Given the description of an element on the screen output the (x, y) to click on. 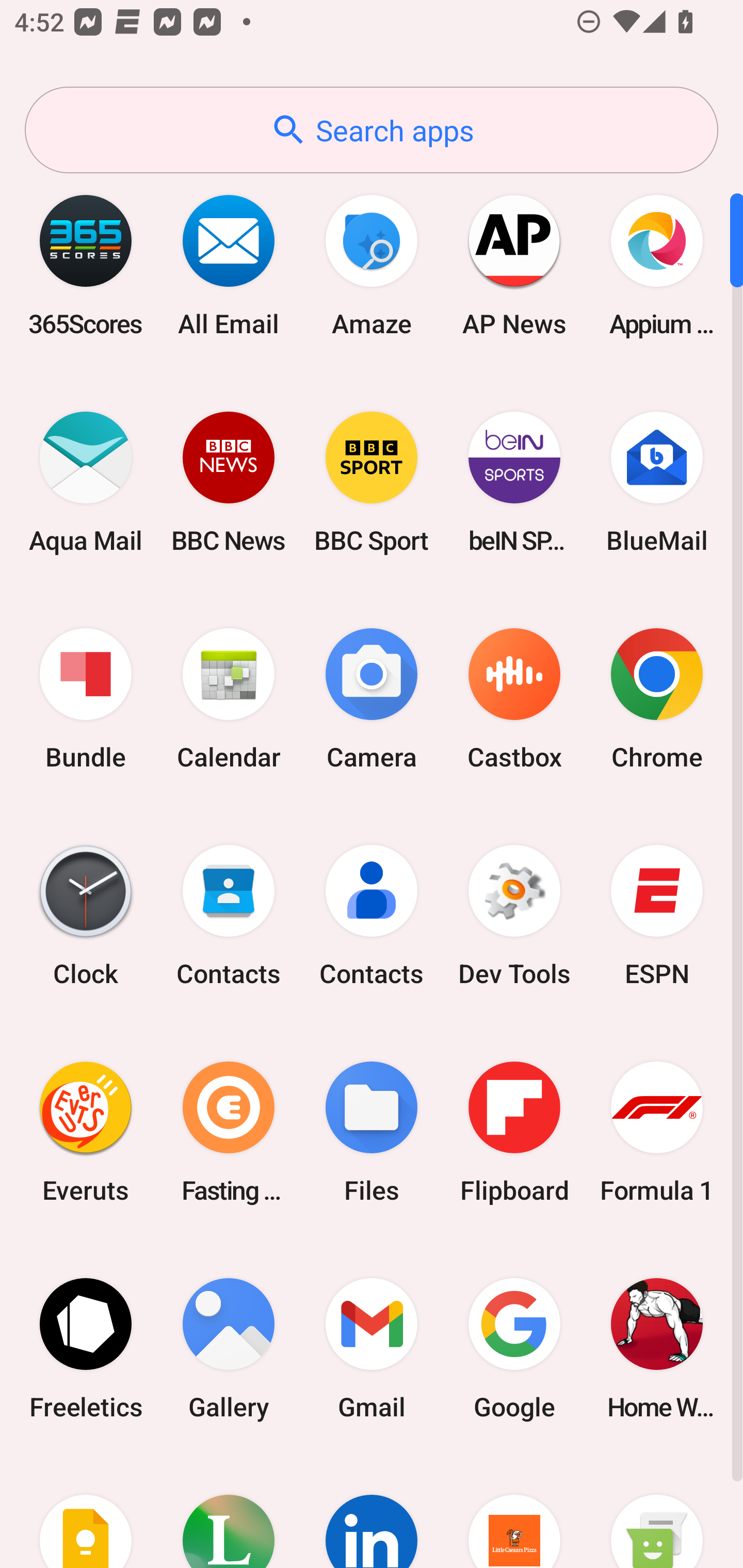
  Search apps (371, 130)
365Scores (85, 264)
All Email (228, 264)
Amaze (371, 264)
AP News (514, 264)
Appium Settings (656, 264)
Aqua Mail (85, 482)
BBC News (228, 482)
BBC Sport (371, 482)
beIN SPORTS (514, 482)
BlueMail (656, 482)
Bundle (85, 699)
Calendar (228, 699)
Camera (371, 699)
Castbox (514, 699)
Chrome (656, 699)
Clock (85, 915)
Contacts (228, 915)
Contacts (371, 915)
Dev Tools (514, 915)
ESPN (656, 915)
Everuts (85, 1131)
Fasting Coach (228, 1131)
Files (371, 1131)
Flipboard (514, 1131)
Formula 1 (656, 1131)
Freeletics (85, 1348)
Gallery (228, 1348)
Gmail (371, 1348)
Google (514, 1348)
Home Workout (656, 1348)
Keep Notes (85, 1512)
Lifesum (228, 1512)
LinkedIn (371, 1512)
Little Caesars Pizza (514, 1512)
Messaging (656, 1512)
